Given the description of an element on the screen output the (x, y) to click on. 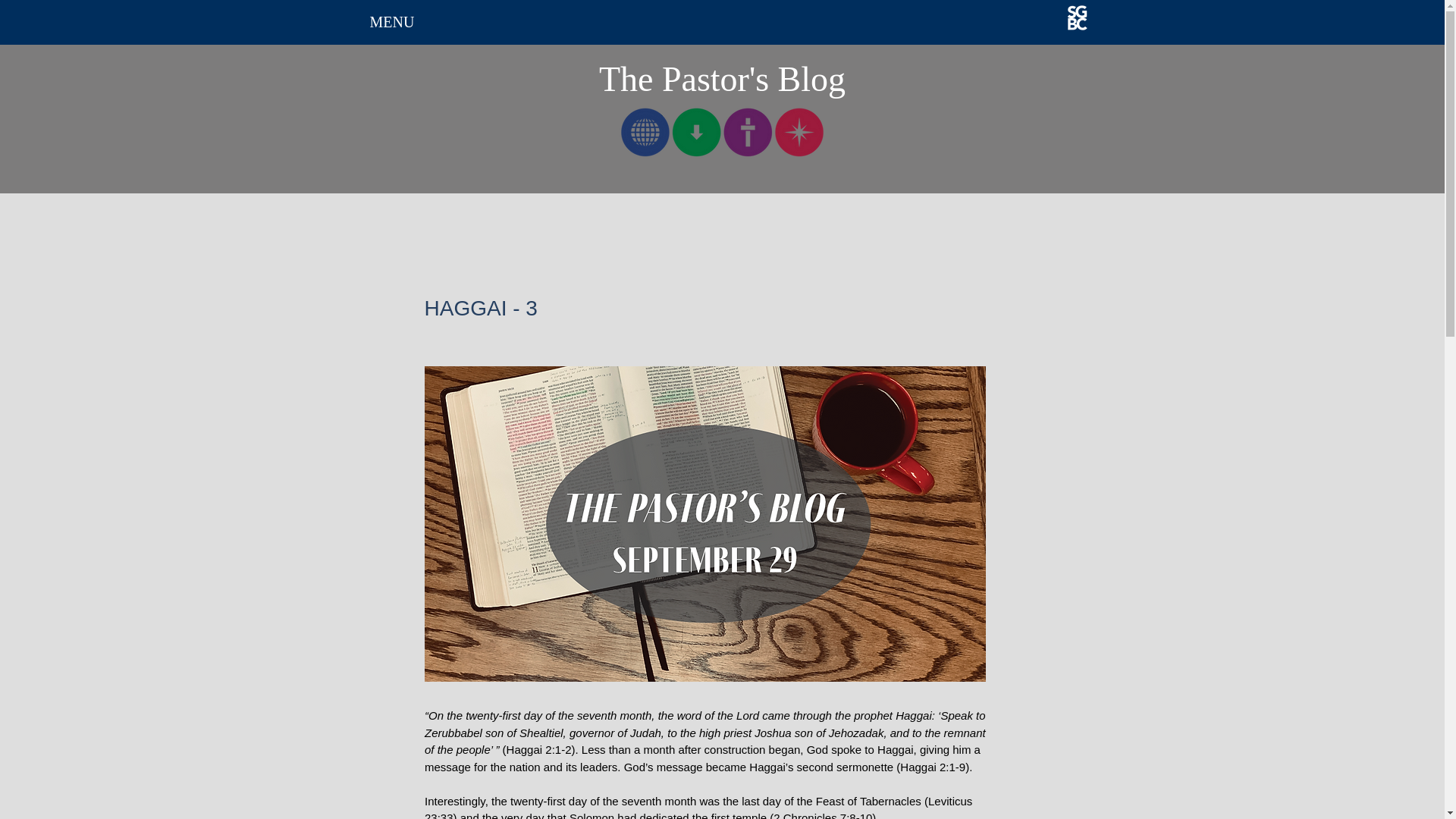
MENU (392, 22)
